Given the description of an element on the screen output the (x, y) to click on. 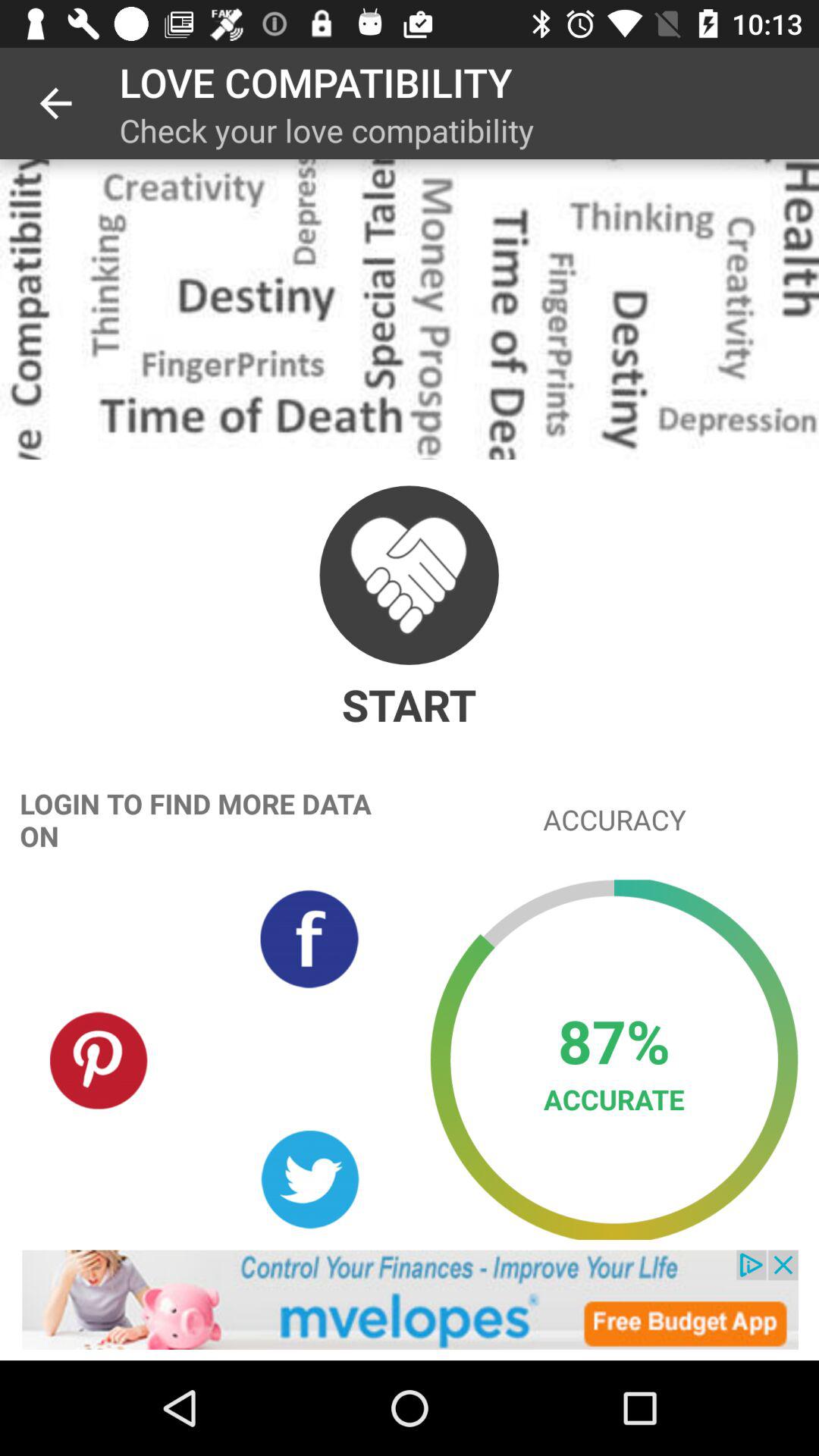
login with facebook (309, 939)
